Given the description of an element on the screen output the (x, y) to click on. 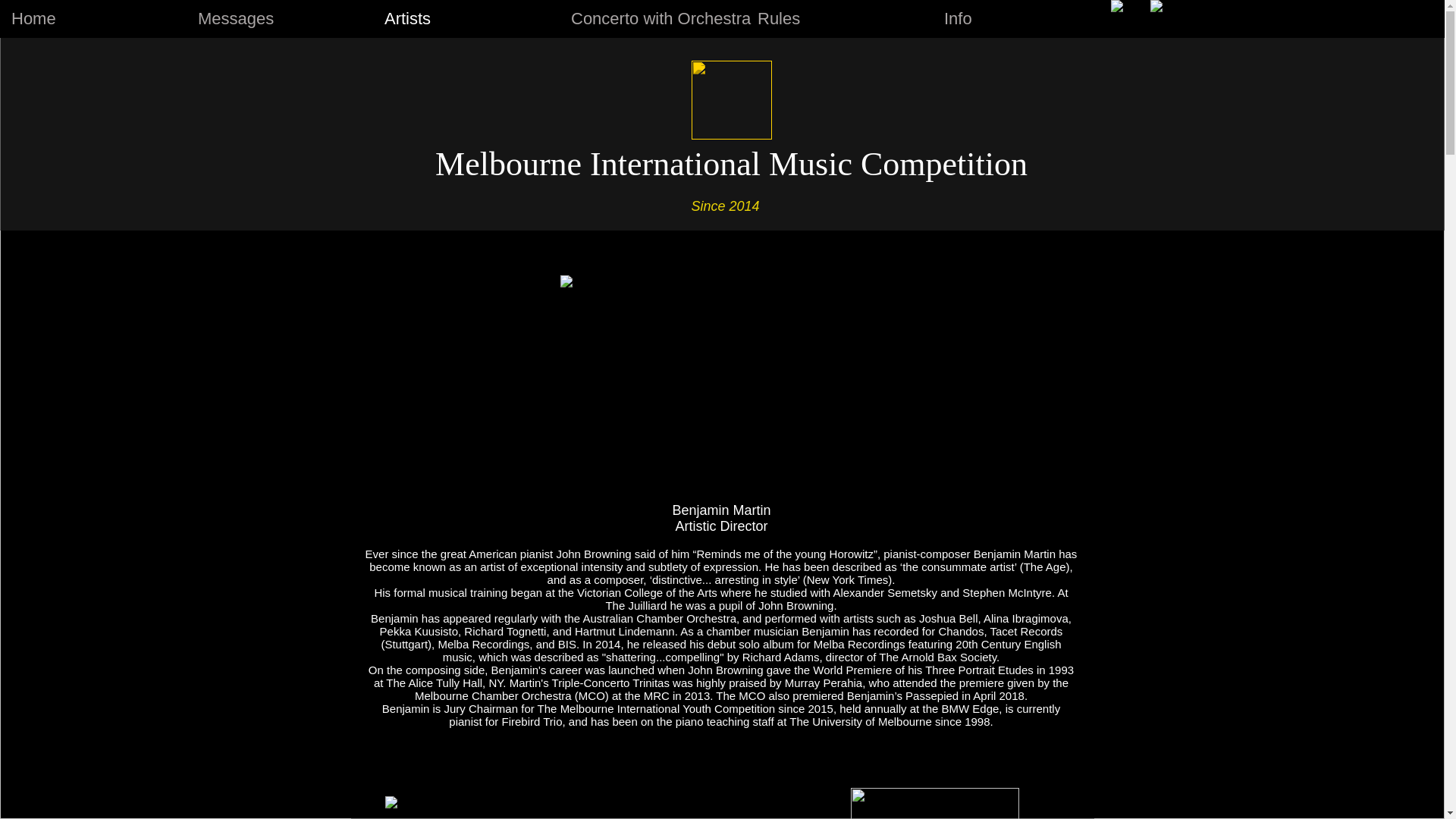
Home (93, 19)
Messages (279, 19)
Info (1026, 19)
Melbourne International Music Competition (731, 163)
Artists (465, 19)
Rules (839, 19)
Concerto with Orchestra (652, 19)
